Given the description of an element on the screen output the (x, y) to click on. 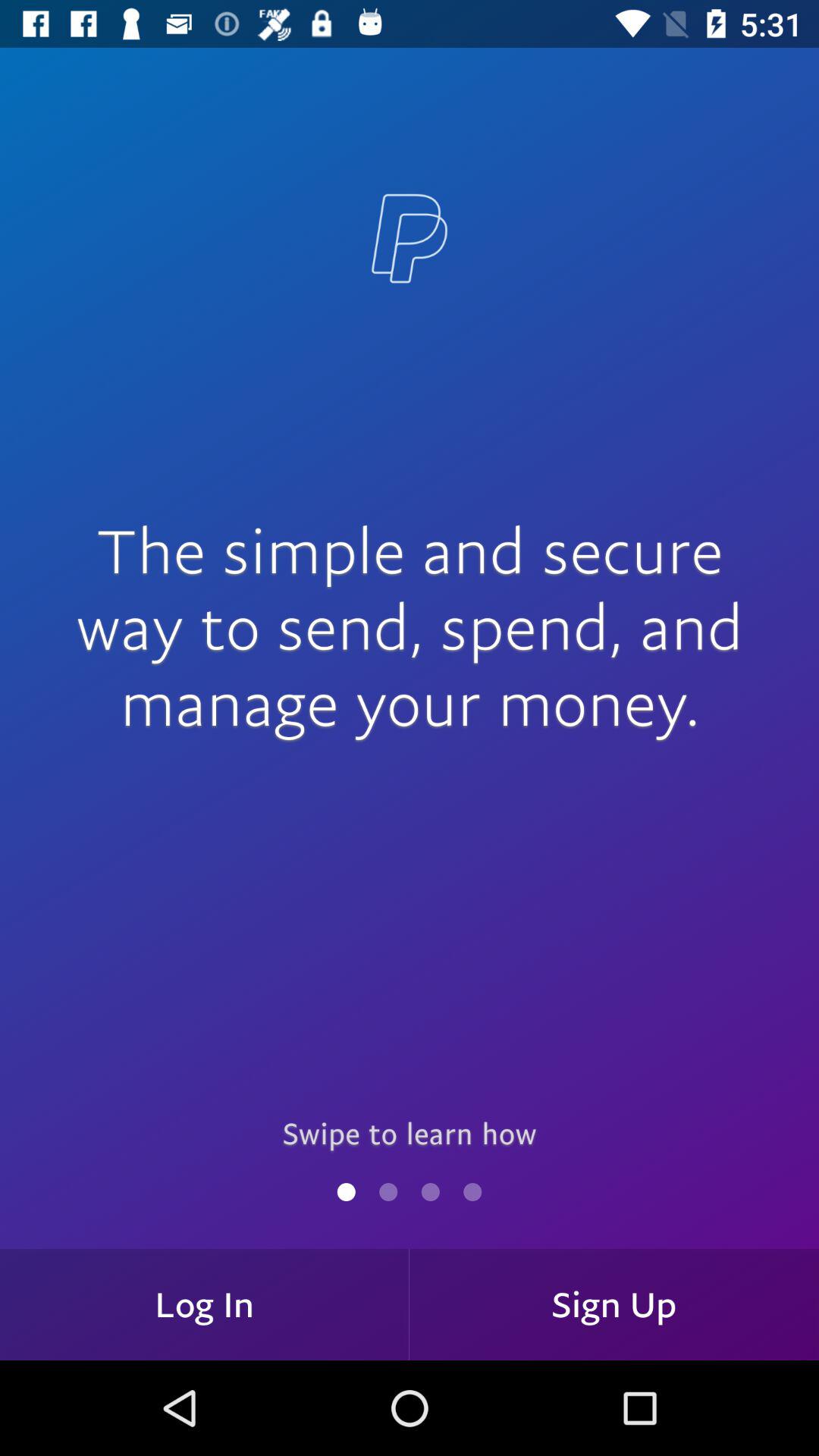
turn on icon to the right of the log in icon (614, 1304)
